Given the description of an element on the screen output the (x, y) to click on. 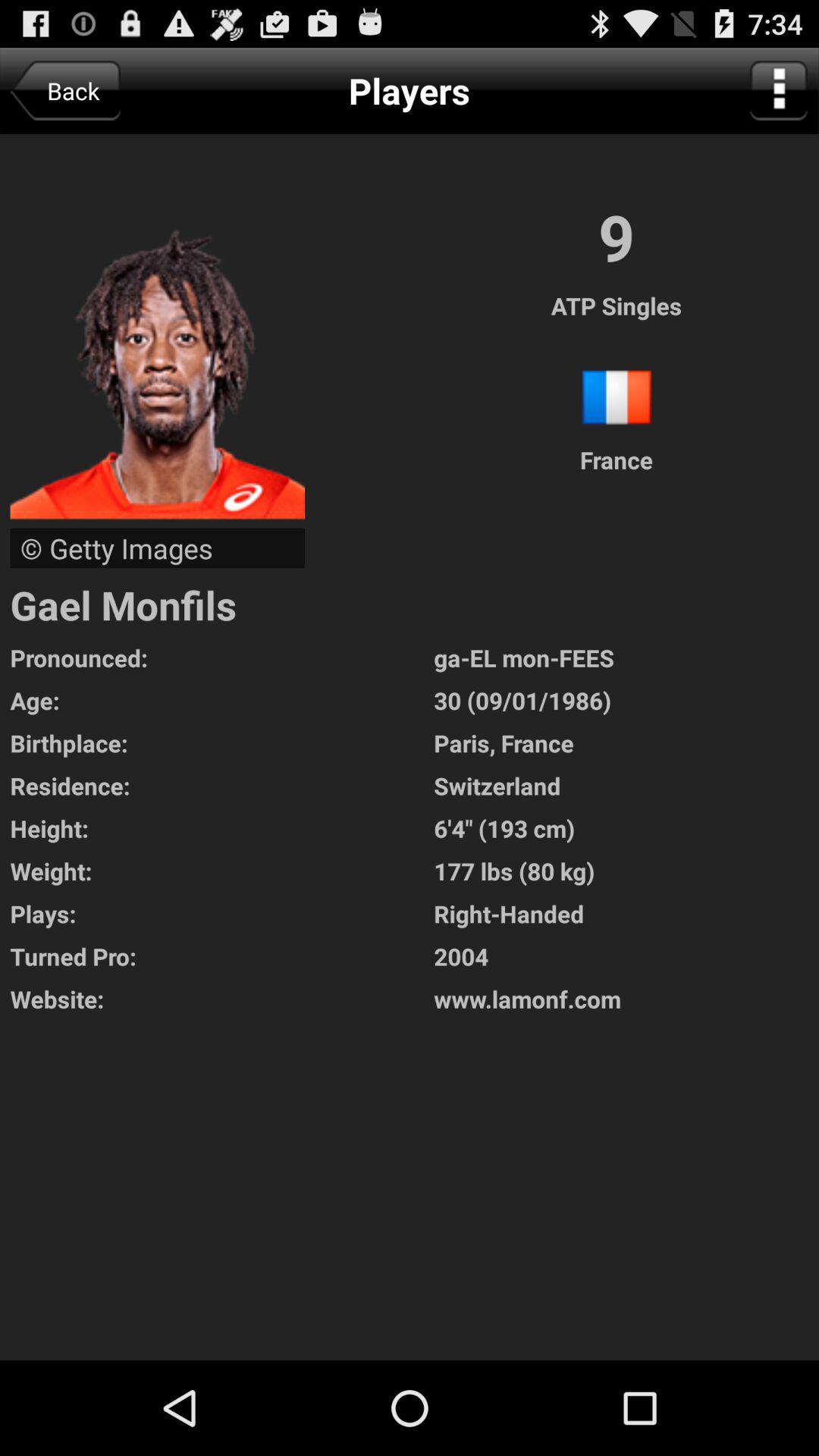
turn on the birthplace: icon (221, 742)
